Given the description of an element on the screen output the (x, y) to click on. 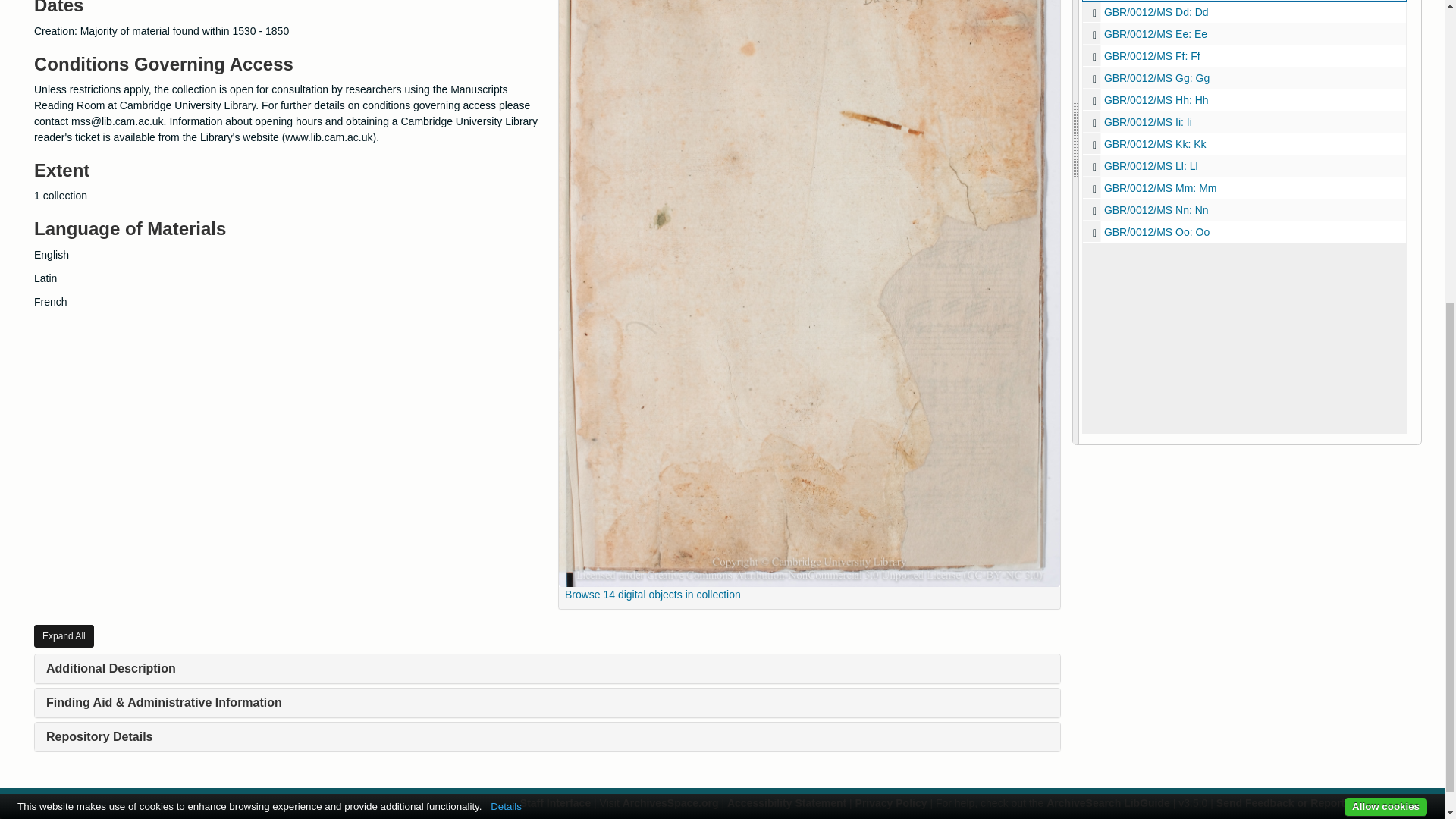
Dd (1244, 11)
Ff (1244, 55)
Expand All (63, 635)
Dd (1093, 11)
Ff (1093, 56)
Ll (1244, 165)
Ii (1244, 121)
Repository Details (99, 736)
Ee (1093, 33)
Additional Description (111, 667)
Gg (1244, 77)
Ee (1244, 33)
Hh (1244, 99)
